Given the description of an element on the screen output the (x, y) to click on. 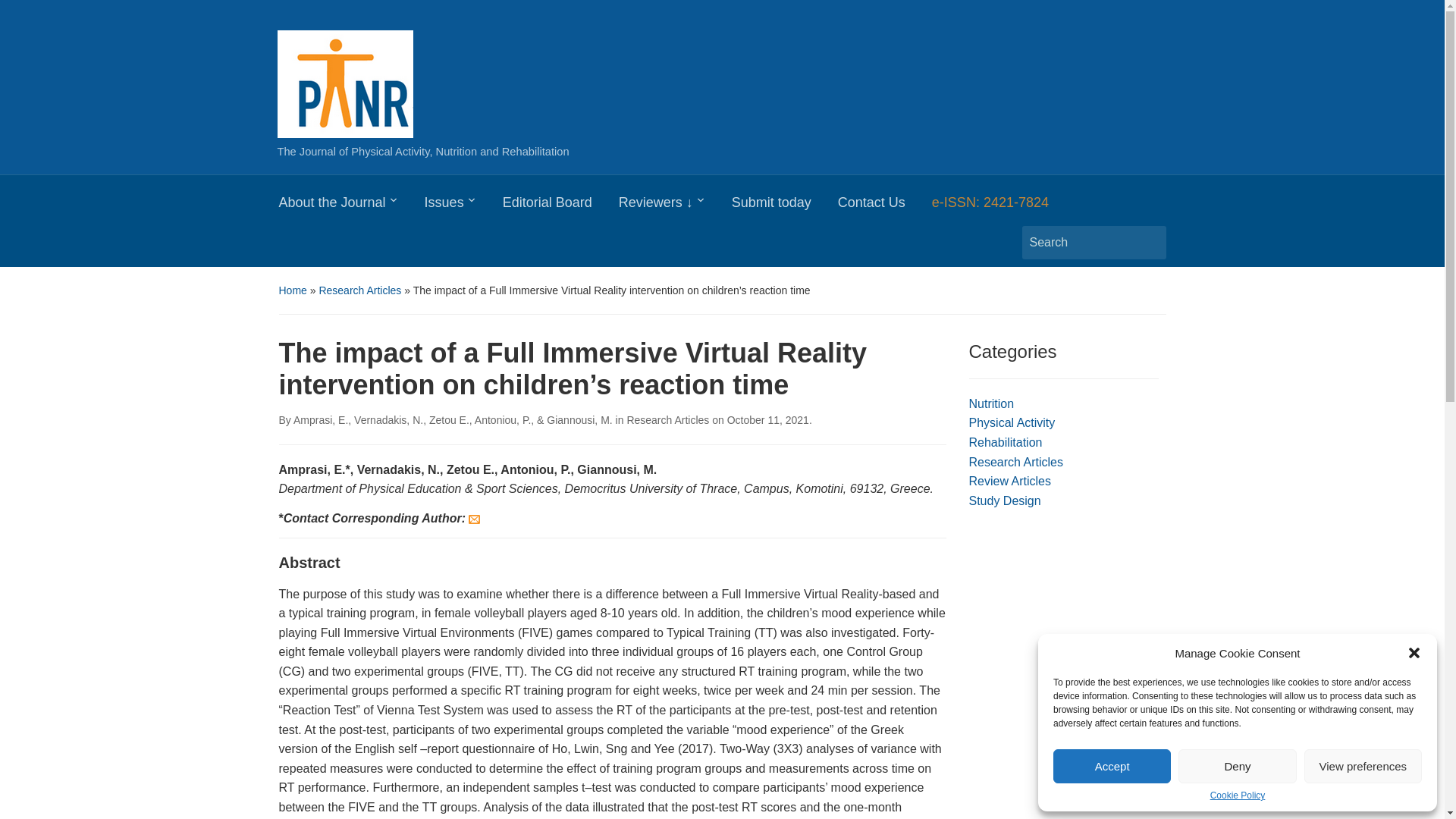
Cookie Policy (1237, 795)
About the Journal (352, 206)
Submit today (785, 206)
View preferences (1363, 765)
e-ISSN: 2421-7824 (1003, 206)
Issues (463, 206)
2:54 pm (767, 419)
Deny (1236, 765)
Accept (1111, 765)
Contact Us (884, 206)
Editorial Board (560, 206)
